Given the description of an element on the screen output the (x, y) to click on. 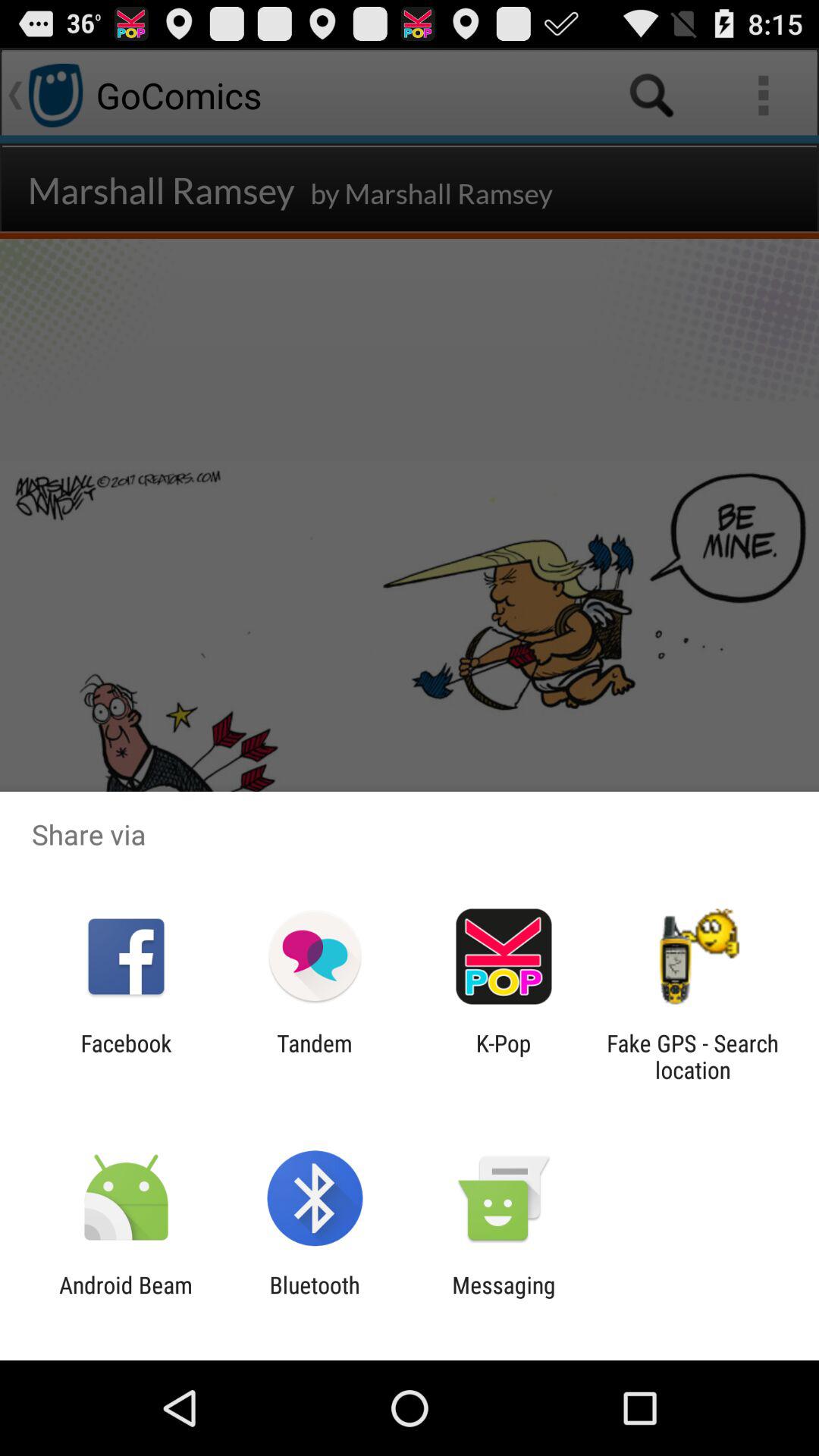
turn off item next to the k-pop icon (314, 1056)
